Given the description of an element on the screen output the (x, y) to click on. 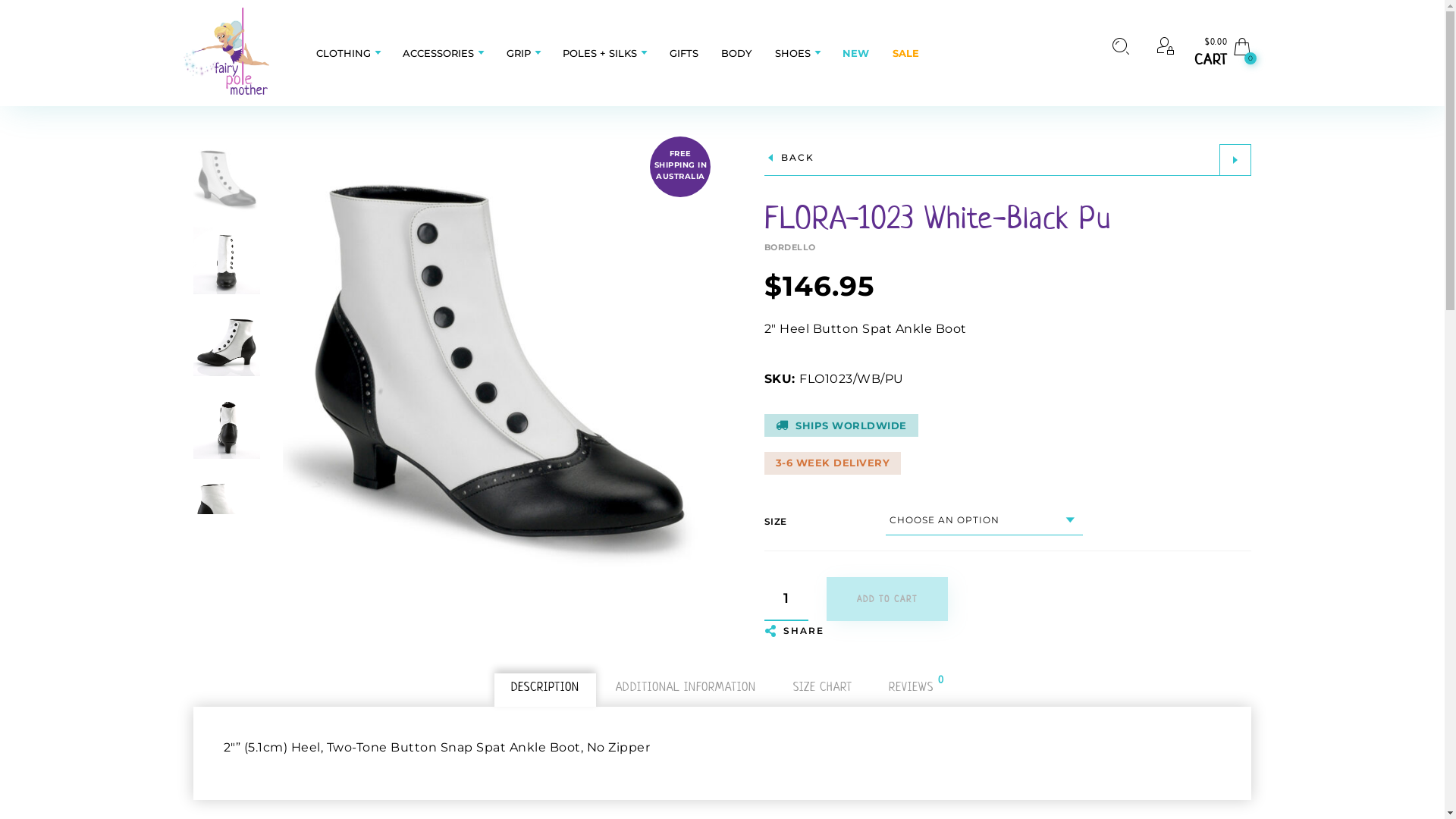
SHOES Element type: text (792, 53)
SHARE Element type: text (794, 630)
ADD TO CART Element type: text (886, 599)
SIZE CHART Element type: text (822, 686)
ADDITIONAL INFORMATION Element type: text (685, 686)
BORDELLO Element type: text (1008, 244)
BACK Element type: text (789, 159)
REVIEWS
0 Element type: text (911, 686)
DESCRIPTION Element type: text (544, 686)
Qty Element type: hover (786, 599)
Next product Element type: text (1235, 159)
$0.00
CART
0 Element type: text (1223, 53)
BODY Element type: text (736, 53)
CLOTHING Element type: text (347, 53)
NEW Element type: text (855, 53)
ACCESSORIES Element type: text (437, 53)
POLES + SILKS Element type: text (599, 53)
GIFTS Element type: text (683, 53)
SALE Element type: text (905, 53)
GRIP Element type: text (518, 53)
